Given the description of an element on the screen output the (x, y) to click on. 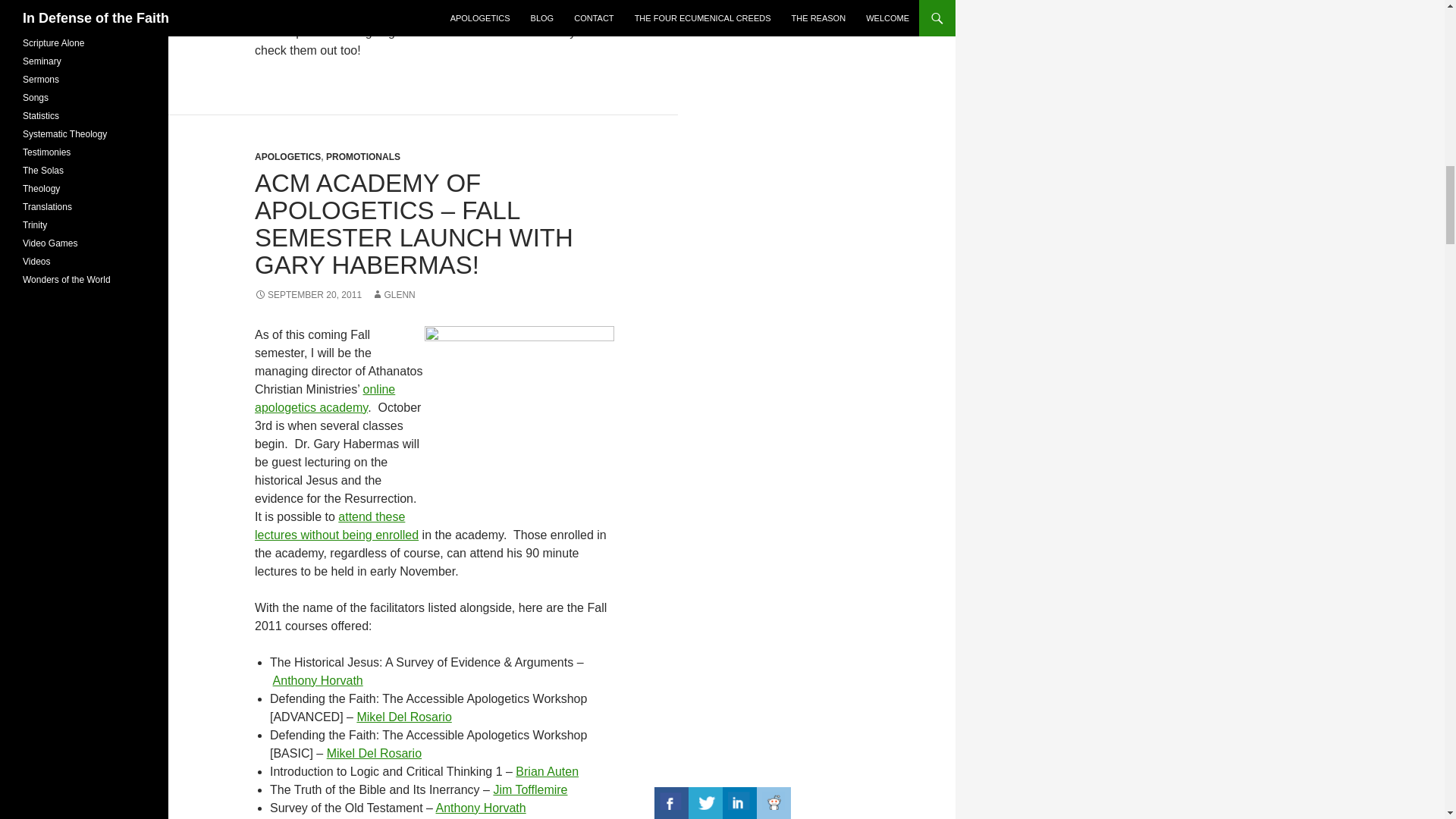
ACM Academy of Apologetics (519, 420)
Jim Tofflemire Creation Apologetics (530, 789)
Apologetics Guest Lecturer (336, 525)
Mikel Del Rosario Apologetics (374, 753)
Mikel Del Rosario Apologetics (403, 716)
GLENN (392, 294)
APOLOGETICS (287, 156)
online apologetics academy (324, 398)
PROMOTIONALS (363, 156)
SEPTEMBER 20, 2011 (307, 294)
Anthony Horvath at Athanatos Christian Ministries (317, 680)
Anthony Horvath at Athanatos Christian Ministries (480, 807)
Brian Auten Apologetics (546, 771)
